Given the description of an element on the screen output the (x, y) to click on. 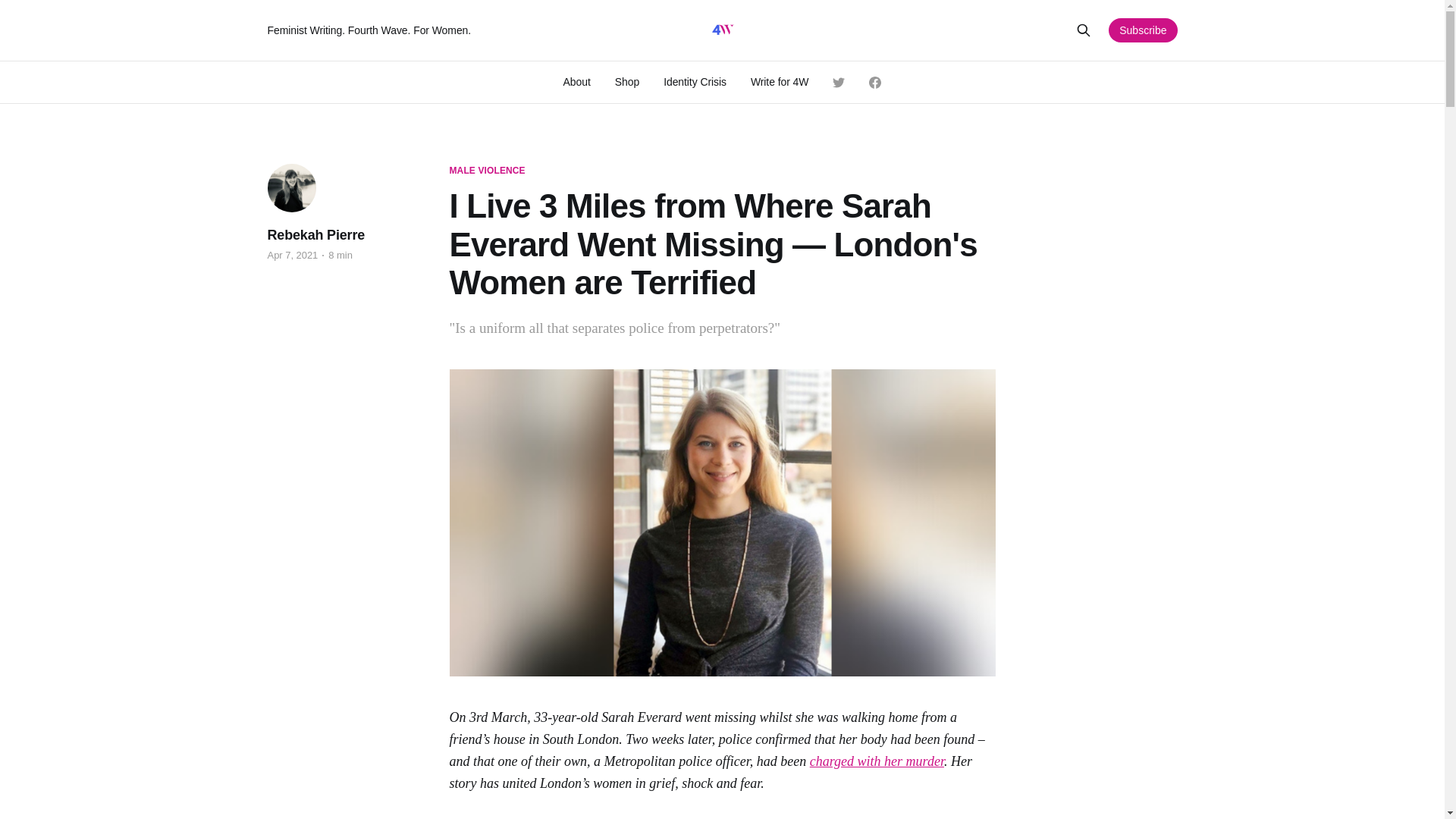
Feminist Writing. Fourth Wave. For Women. (475, 30)
MALE VIOLENCE (486, 170)
Write for 4W (780, 81)
charged with her murder (876, 761)
Subscribe (1142, 30)
About (577, 81)
Shop (626, 81)
Rebekah Pierre (315, 234)
Identity Crisis (694, 81)
